Given the description of an element on the screen output the (x, y) to click on. 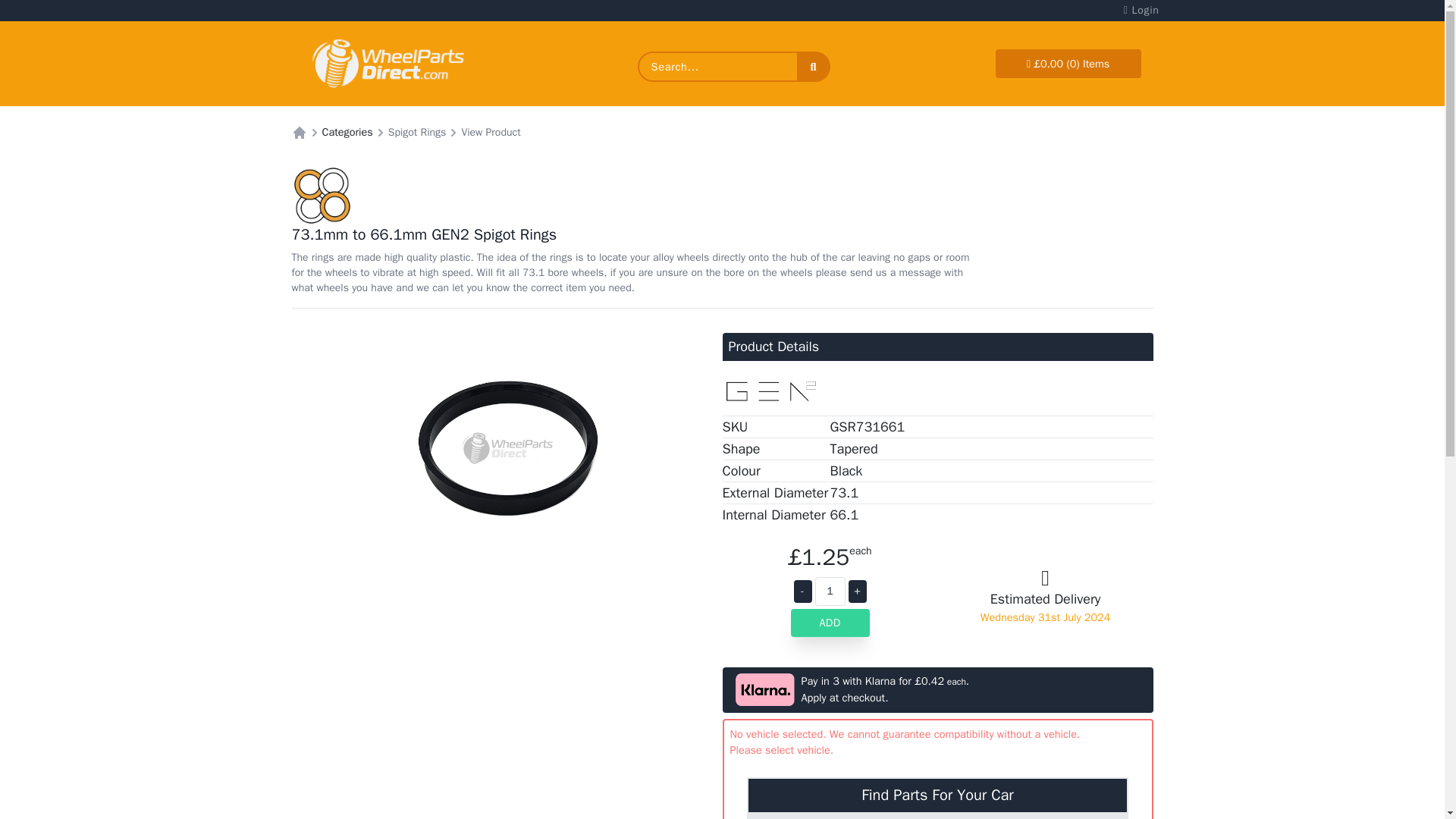
Spigot Rings (417, 132)
Login (1141, 10)
ADD (829, 623)
View Product (490, 132)
Home (298, 132)
